Given the description of an element on the screen output the (x, y) to click on. 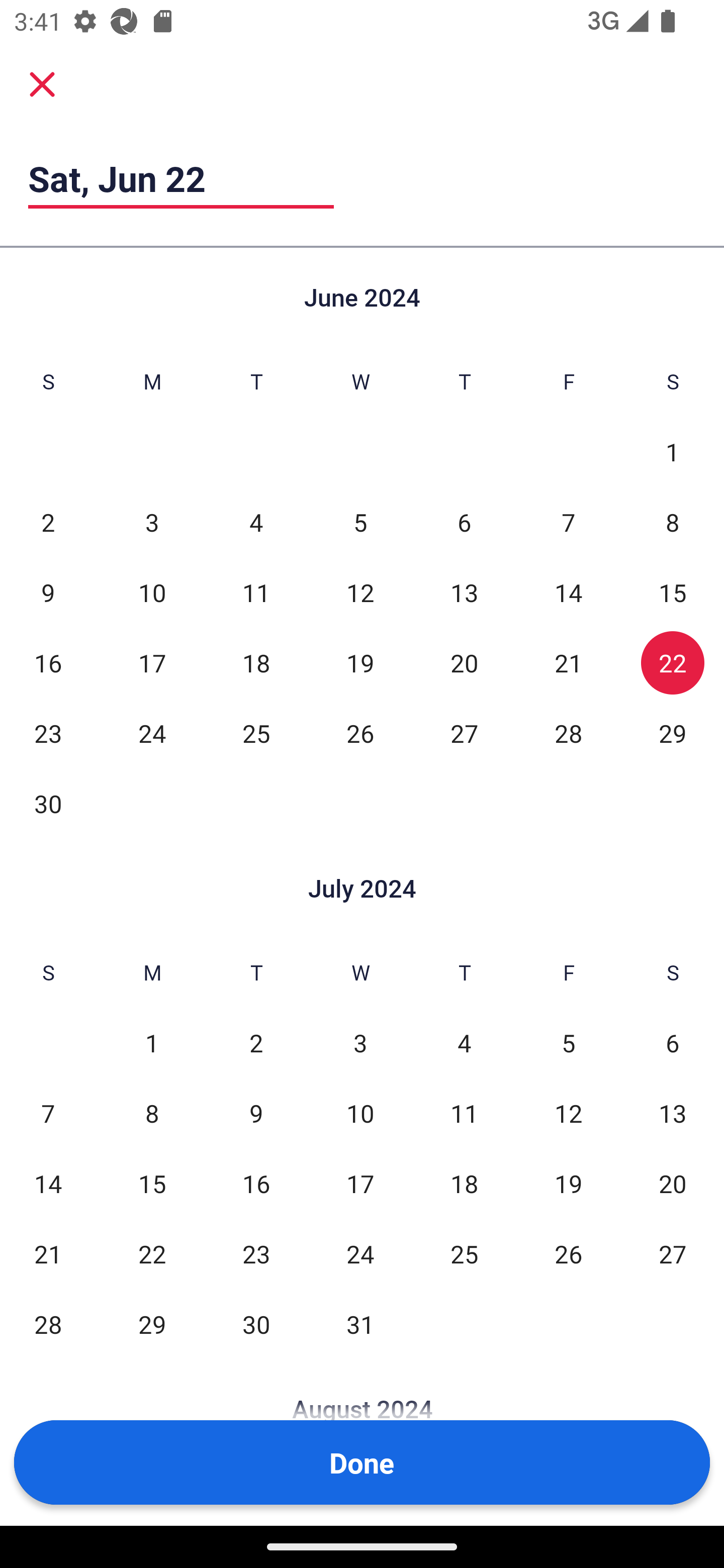
Cancel (41, 83)
Sat, Jun 22 (180, 178)
1 Sat, Jun 1, Not Selected (672, 452)
2 Sun, Jun 2, Not Selected (48, 521)
3 Mon, Jun 3, Not Selected (152, 521)
4 Tue, Jun 4, Not Selected (256, 521)
5 Wed, Jun 5, Not Selected (360, 521)
6 Thu, Jun 6, Not Selected (464, 521)
7 Fri, Jun 7, Not Selected (568, 521)
8 Sat, Jun 8, Not Selected (672, 521)
9 Sun, Jun 9, Not Selected (48, 591)
10 Mon, Jun 10, Not Selected (152, 591)
11 Tue, Jun 11, Not Selected (256, 591)
12 Wed, Jun 12, Not Selected (360, 591)
13 Thu, Jun 13, Not Selected (464, 591)
14 Fri, Jun 14, Not Selected (568, 591)
15 Sat, Jun 15, Not Selected (672, 591)
16 Sun, Jun 16, Not Selected (48, 662)
17 Mon, Jun 17, Not Selected (152, 662)
18 Tue, Jun 18, Not Selected (256, 662)
19 Wed, Jun 19, Not Selected (360, 662)
20 Thu, Jun 20, Not Selected (464, 662)
21 Fri, Jun 21, Not Selected (568, 662)
22 Sat, Jun 22, Selected (672, 662)
23 Sun, Jun 23, Not Selected (48, 732)
24 Mon, Jun 24, Not Selected (152, 732)
25 Tue, Jun 25, Not Selected (256, 732)
26 Wed, Jun 26, Not Selected (360, 732)
27 Thu, Jun 27, Not Selected (464, 732)
28 Fri, Jun 28, Not Selected (568, 732)
29 Sat, Jun 29, Not Selected (672, 732)
30 Sun, Jun 30, Not Selected (48, 803)
1 Mon, Jul 1, Not Selected (152, 1043)
2 Tue, Jul 2, Not Selected (256, 1043)
3 Wed, Jul 3, Not Selected (360, 1043)
4 Thu, Jul 4, Not Selected (464, 1043)
5 Fri, Jul 5, Not Selected (568, 1043)
6 Sat, Jul 6, Not Selected (672, 1043)
7 Sun, Jul 7, Not Selected (48, 1112)
8 Mon, Jul 8, Not Selected (152, 1112)
9 Tue, Jul 9, Not Selected (256, 1112)
10 Wed, Jul 10, Not Selected (360, 1112)
11 Thu, Jul 11, Not Selected (464, 1112)
12 Fri, Jul 12, Not Selected (568, 1112)
13 Sat, Jul 13, Not Selected (672, 1112)
14 Sun, Jul 14, Not Selected (48, 1182)
15 Mon, Jul 15, Not Selected (152, 1182)
16 Tue, Jul 16, Not Selected (256, 1182)
17 Wed, Jul 17, Not Selected (360, 1182)
18 Thu, Jul 18, Not Selected (464, 1182)
19 Fri, Jul 19, Not Selected (568, 1182)
20 Sat, Jul 20, Not Selected (672, 1182)
21 Sun, Jul 21, Not Selected (48, 1253)
22 Mon, Jul 22, Not Selected (152, 1253)
23 Tue, Jul 23, Not Selected (256, 1253)
24 Wed, Jul 24, Not Selected (360, 1253)
25 Thu, Jul 25, Not Selected (464, 1253)
26 Fri, Jul 26, Not Selected (568, 1253)
27 Sat, Jul 27, Not Selected (672, 1253)
28 Sun, Jul 28, Not Selected (48, 1323)
29 Mon, Jul 29, Not Selected (152, 1323)
30 Tue, Jul 30, Not Selected (256, 1323)
31 Wed, Jul 31, Not Selected (360, 1323)
Done Button Done (361, 1462)
